Given the description of an element on the screen output the (x, y) to click on. 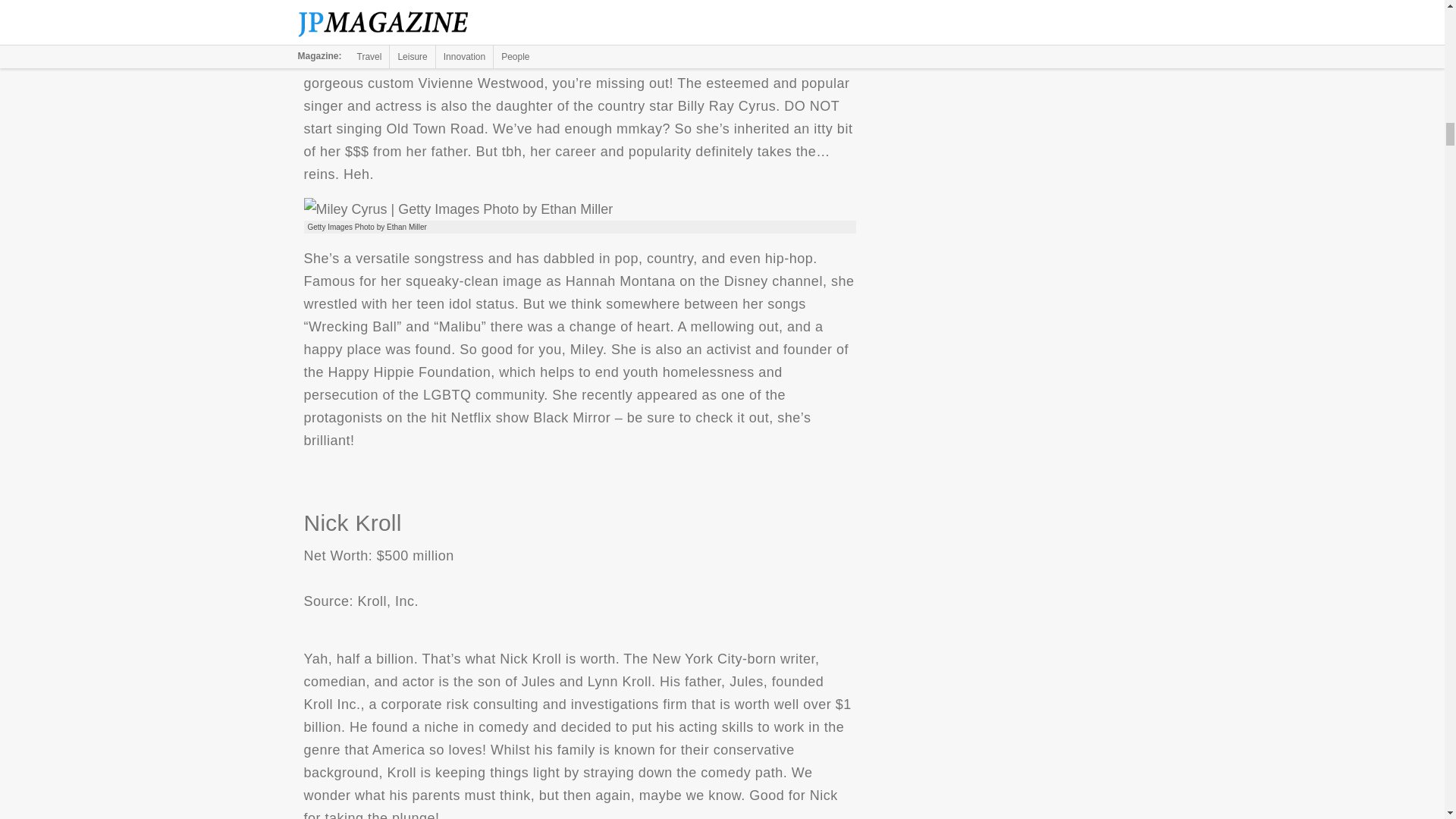
Miley Cyrus (457, 209)
